Given the description of an element on the screen output the (x, y) to click on. 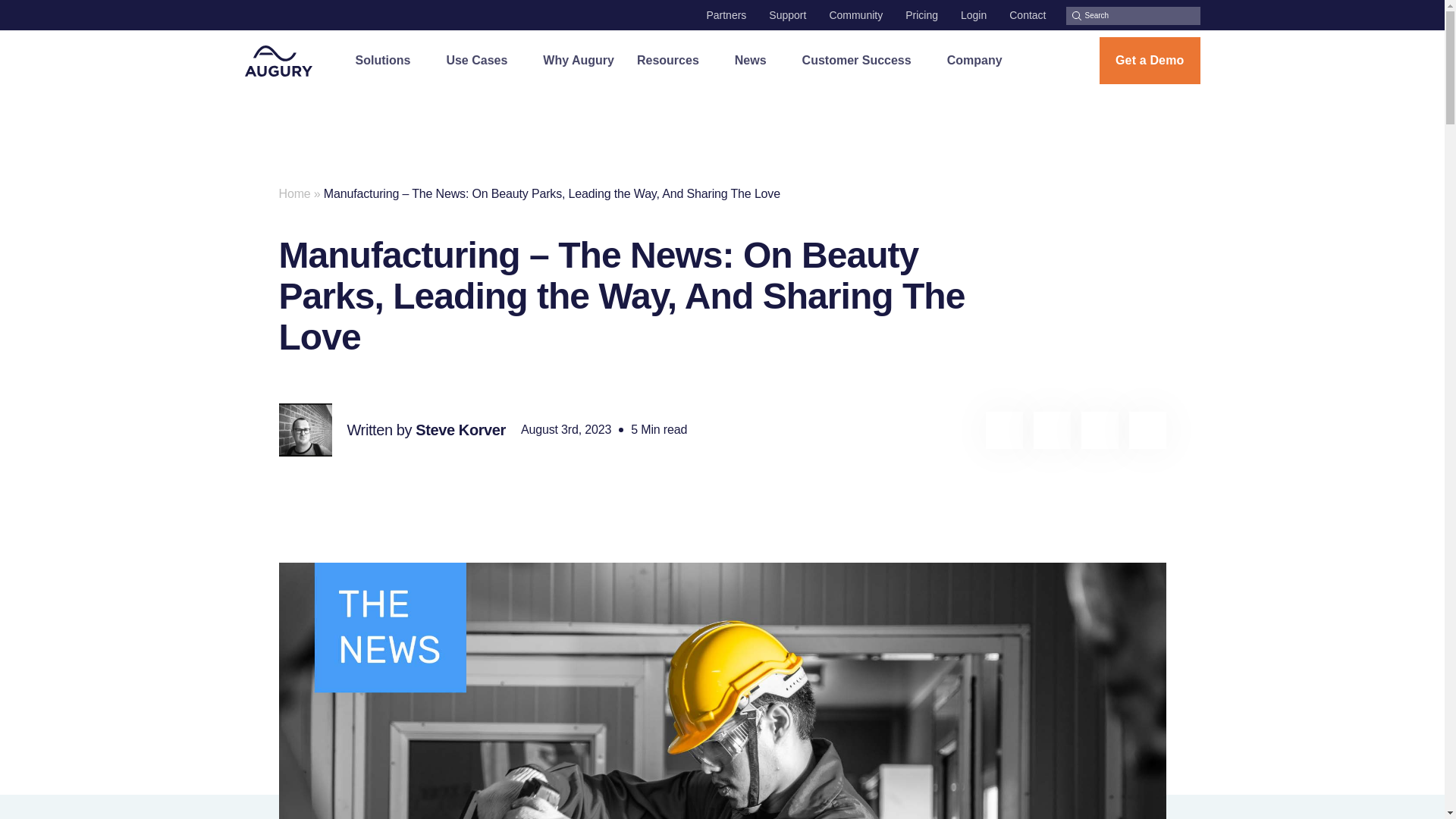
Pricing (921, 15)
Search (1071, 6)
Pricing (921, 15)
Partners (725, 15)
Contact (1027, 15)
Contact (1027, 15)
Use Cases (482, 60)
Community (855, 15)
Support (787, 15)
Solutions (389, 60)
Support (787, 15)
Community (855, 15)
Search for: (1132, 15)
Partners (725, 15)
Login (973, 14)
